Given the description of an element on the screen output the (x, y) to click on. 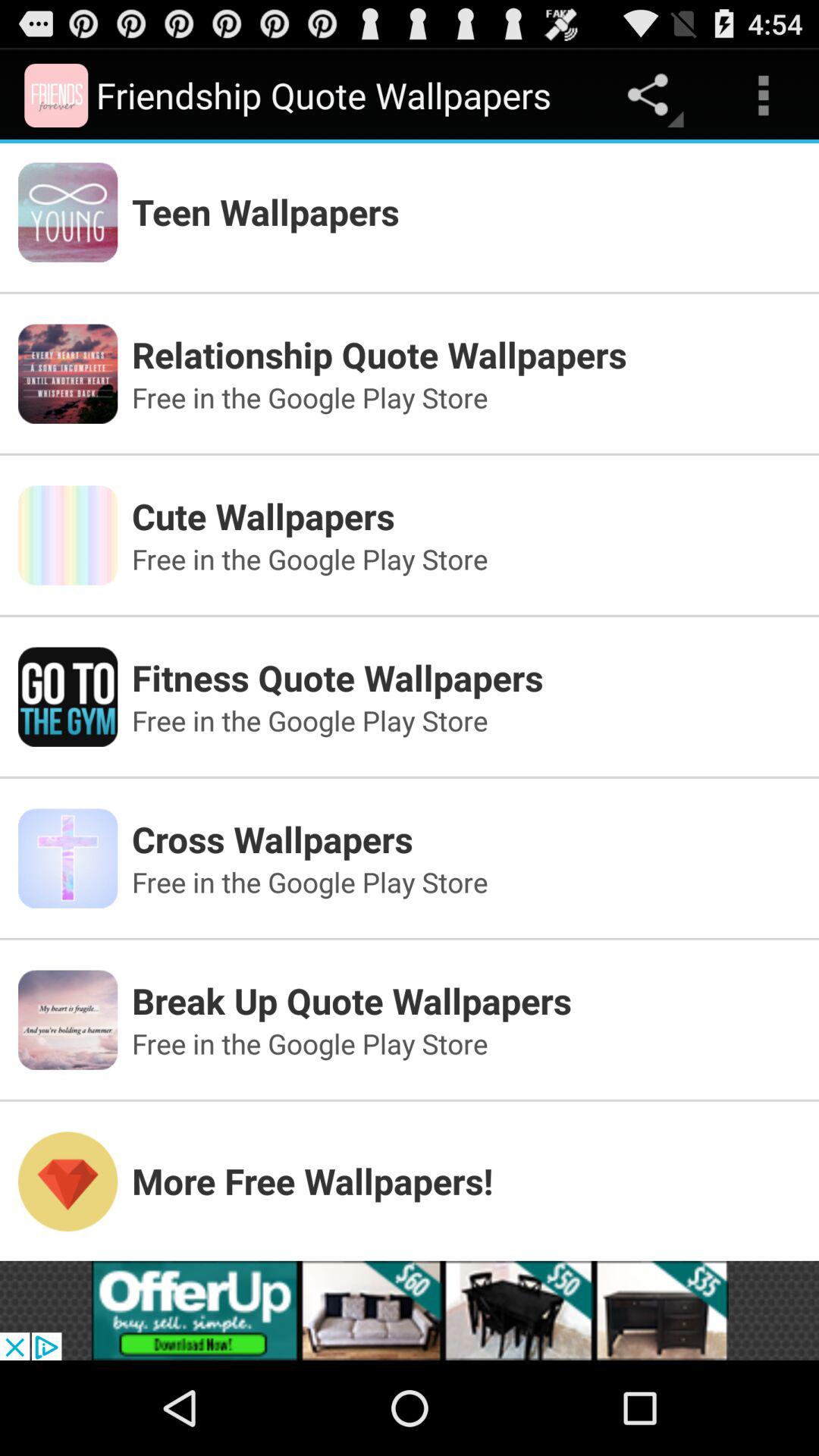
go to advertisement source (409, 1310)
